Given the description of an element on the screen output the (x, y) to click on. 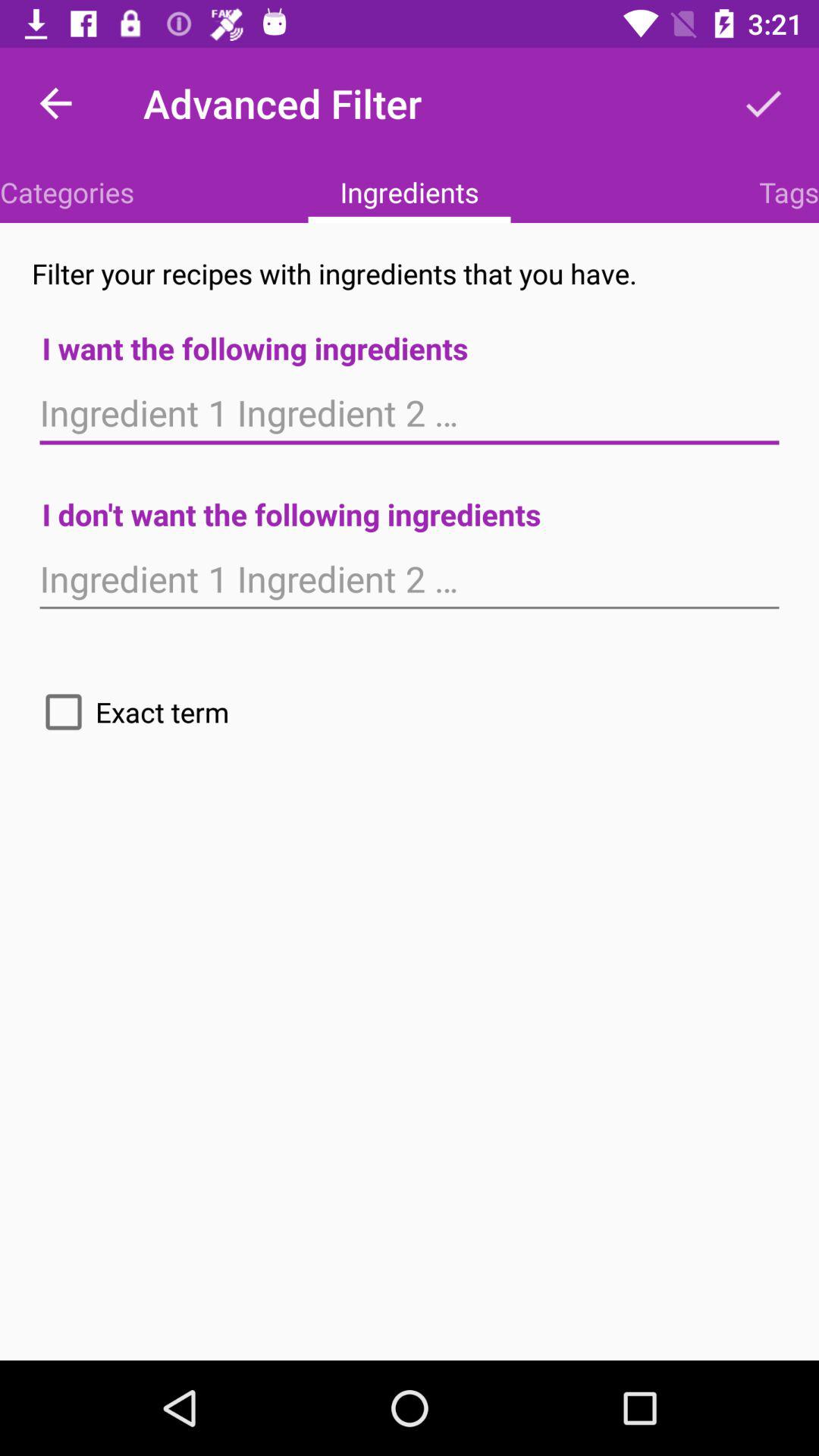
enter ingredients (409, 579)
